Given the description of an element on the screen output the (x, y) to click on. 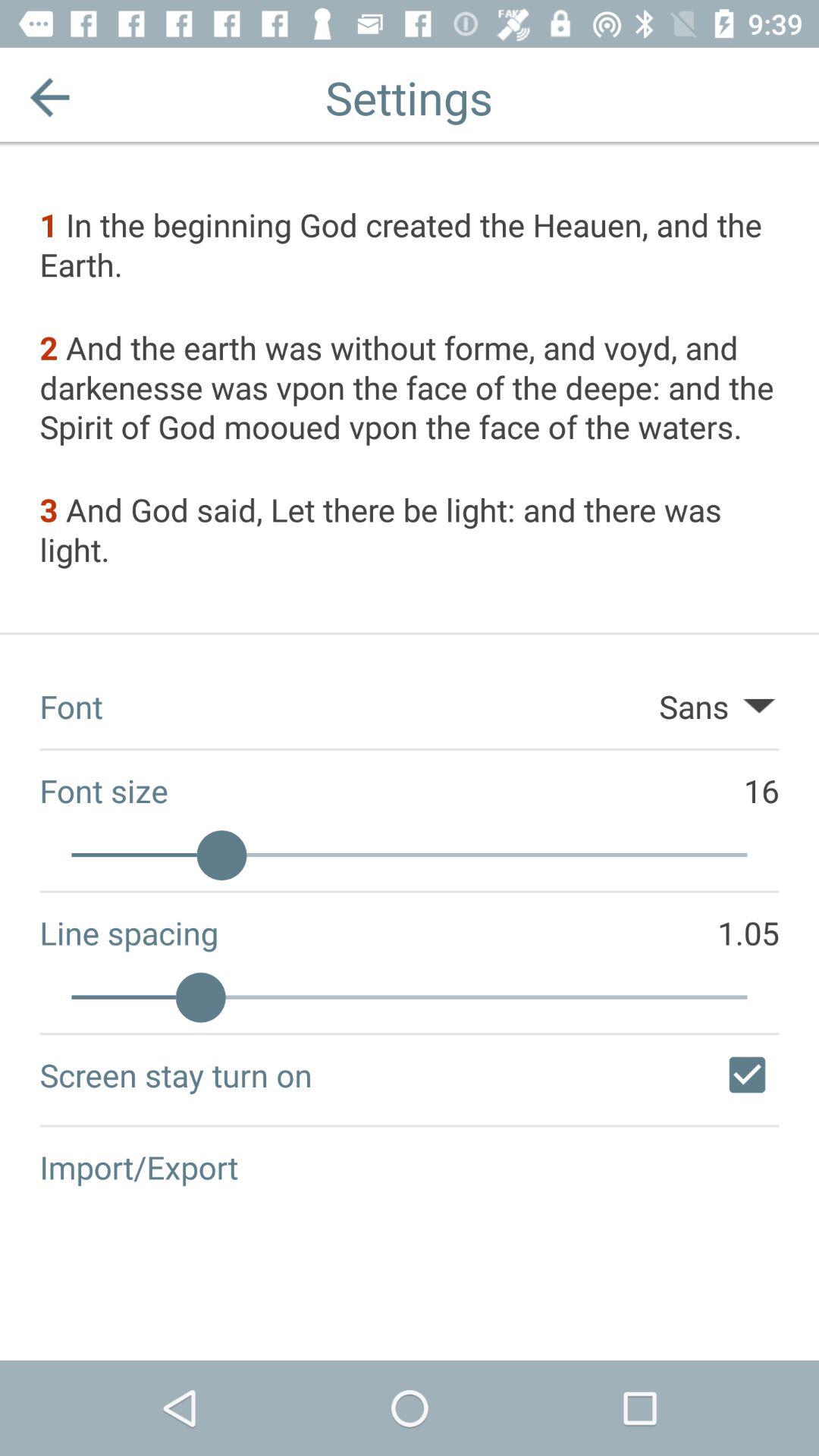
launch checkbox at the bottom right corner (747, 1074)
